Given the description of an element on the screen output the (x, y) to click on. 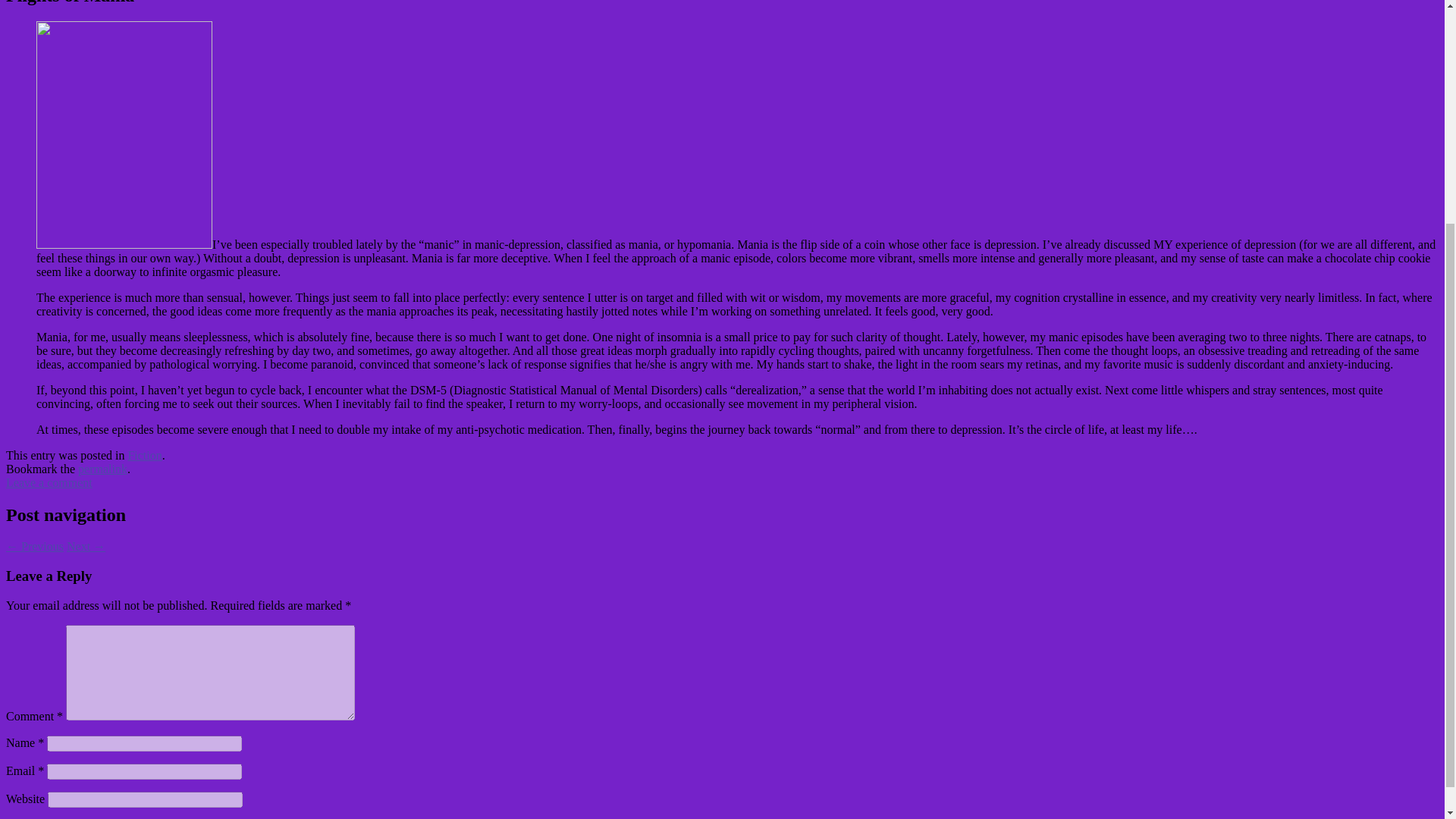
Leave a comment (49, 481)
Permalink to Flights of Mania (103, 468)
Fiction (144, 454)
permalink (103, 468)
